Given the description of an element on the screen output the (x, y) to click on. 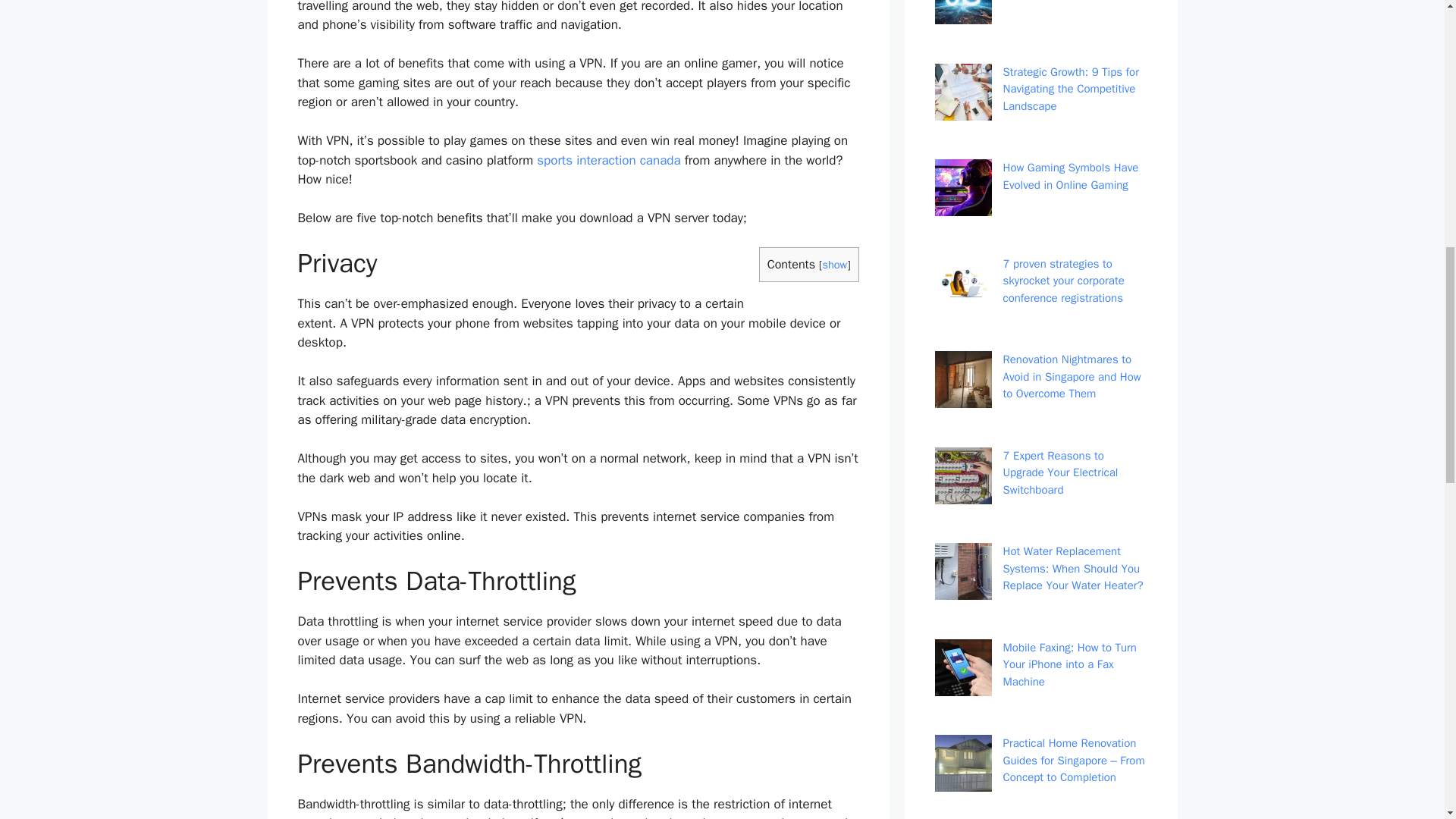
7 Expert Reasons to Upgrade Your Electrical Switchboard (1060, 472)
Mobile Faxing: How to Turn Your iPhone into a Fax Machine (1069, 664)
How Gaming Symbols Have Evolved in Online Gaming (1070, 175)
show (834, 264)
sports interaction canada (608, 160)
